Given the description of an element on the screen output the (x, y) to click on. 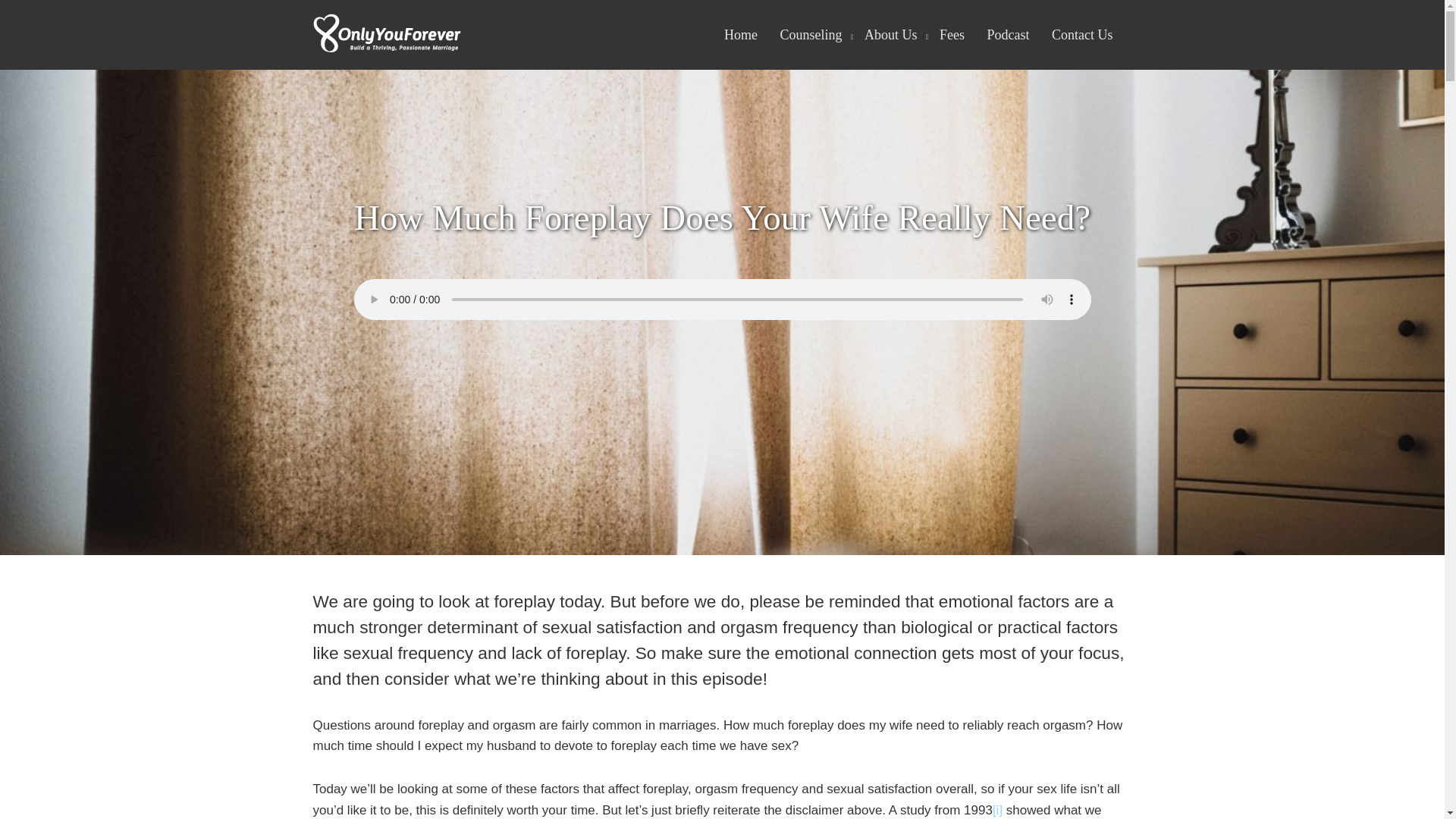
Home (740, 35)
Contact Us (1082, 35)
About Us (890, 35)
Podcast (1008, 35)
Fees (951, 35)
Counseling (809, 35)
